Given the description of an element on the screen output the (x, y) to click on. 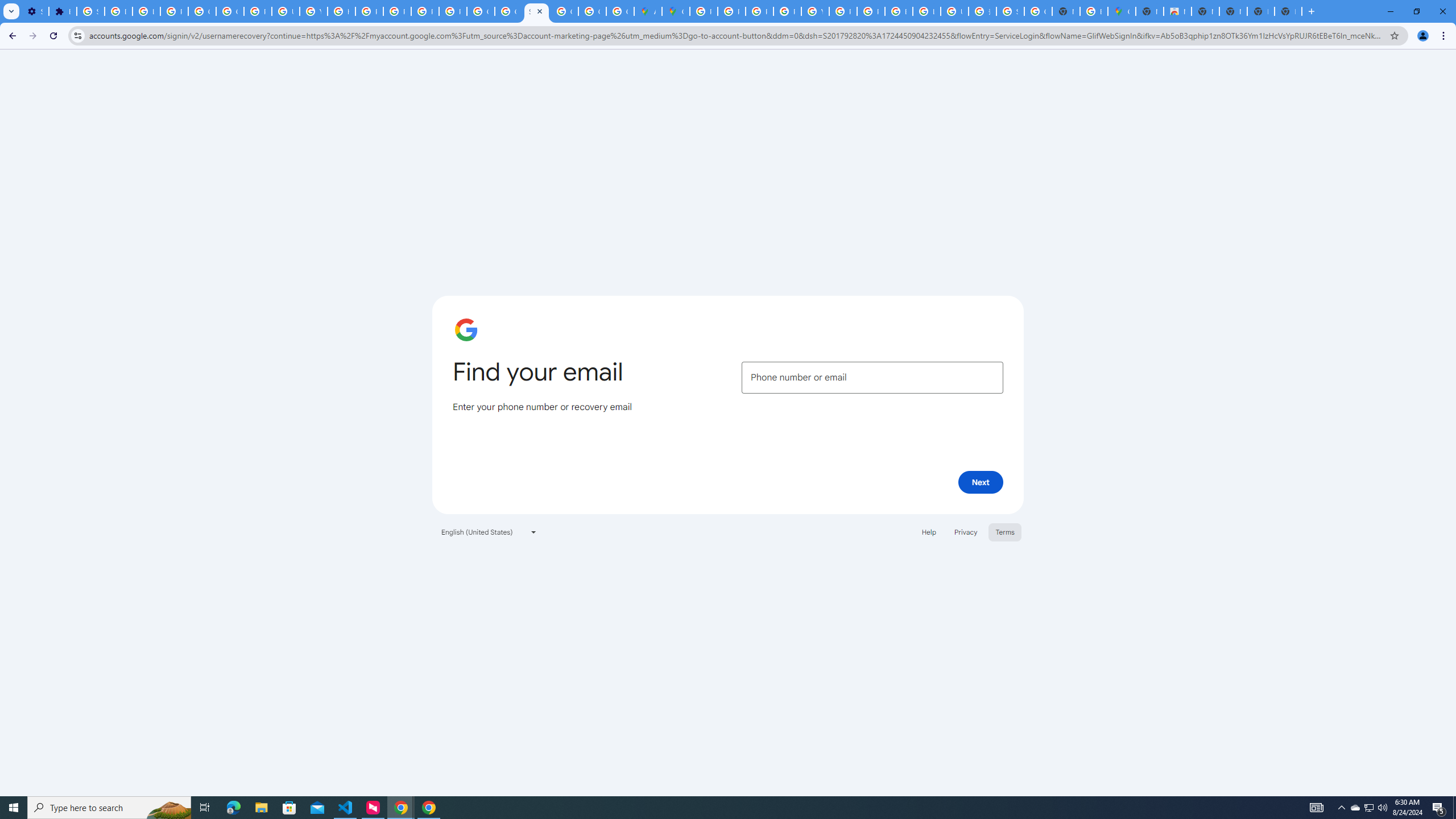
YouTube (313, 11)
Google Maps (675, 11)
Privacy Help Center - Policies Help (731, 11)
Privacy Help Center - Policies Help (369, 11)
Sign in - Google Accounts (90, 11)
